Given the description of an element on the screen output the (x, y) to click on. 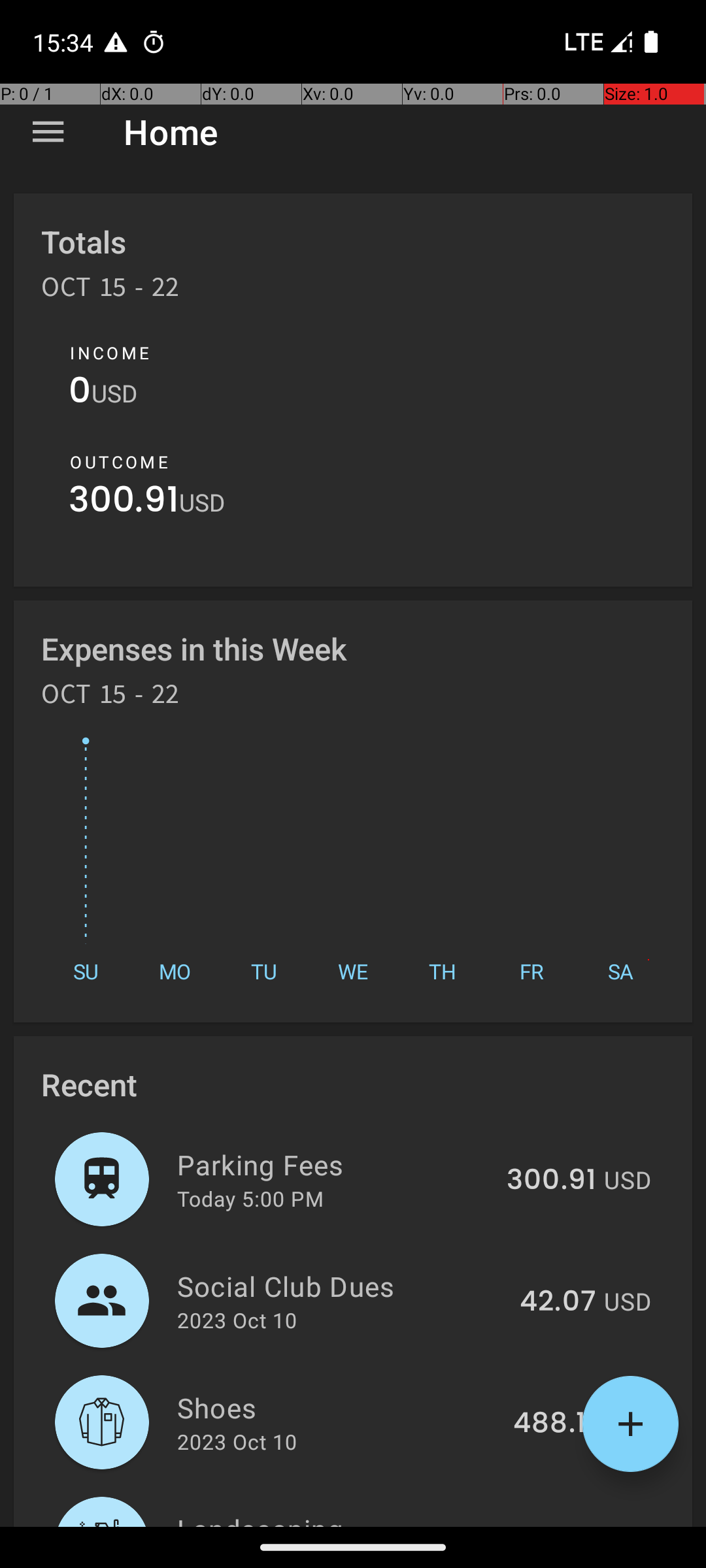
Totals Element type: android.widget.TextView (83, 240)
OCT 15 - 22 Element type: android.widget.TextView (110, 291)
INCOME Element type: android.widget.TextView (109, 352)
USD Element type: android.widget.TextView (114, 392)
OUTCOME Element type: android.widget.TextView (118, 461)
300.91 Element type: android.widget.TextView (123, 502)
Expenses in this Week Element type: android.widget.TextView (194, 648)
Recent Element type: android.widget.TextView (89, 1083)
Parking Fees Element type: android.widget.TextView (334, 1164)
Today 5:00 PM Element type: android.widget.TextView (250, 1198)
Social Club Dues Element type: android.widget.TextView (340, 1285)
2023 Oct 10 Element type: android.widget.TextView (236, 1320)
42.07 Element type: android.widget.TextView (557, 1301)
Shoes Element type: android.widget.TextView (337, 1407)
488.11 Element type: android.widget.TextView (554, 1423)
Landscaping Element type: android.widget.TextView (334, 1518)
405.13 Element type: android.widget.TextView (550, 1524)
